Given the description of an element on the screen output the (x, y) to click on. 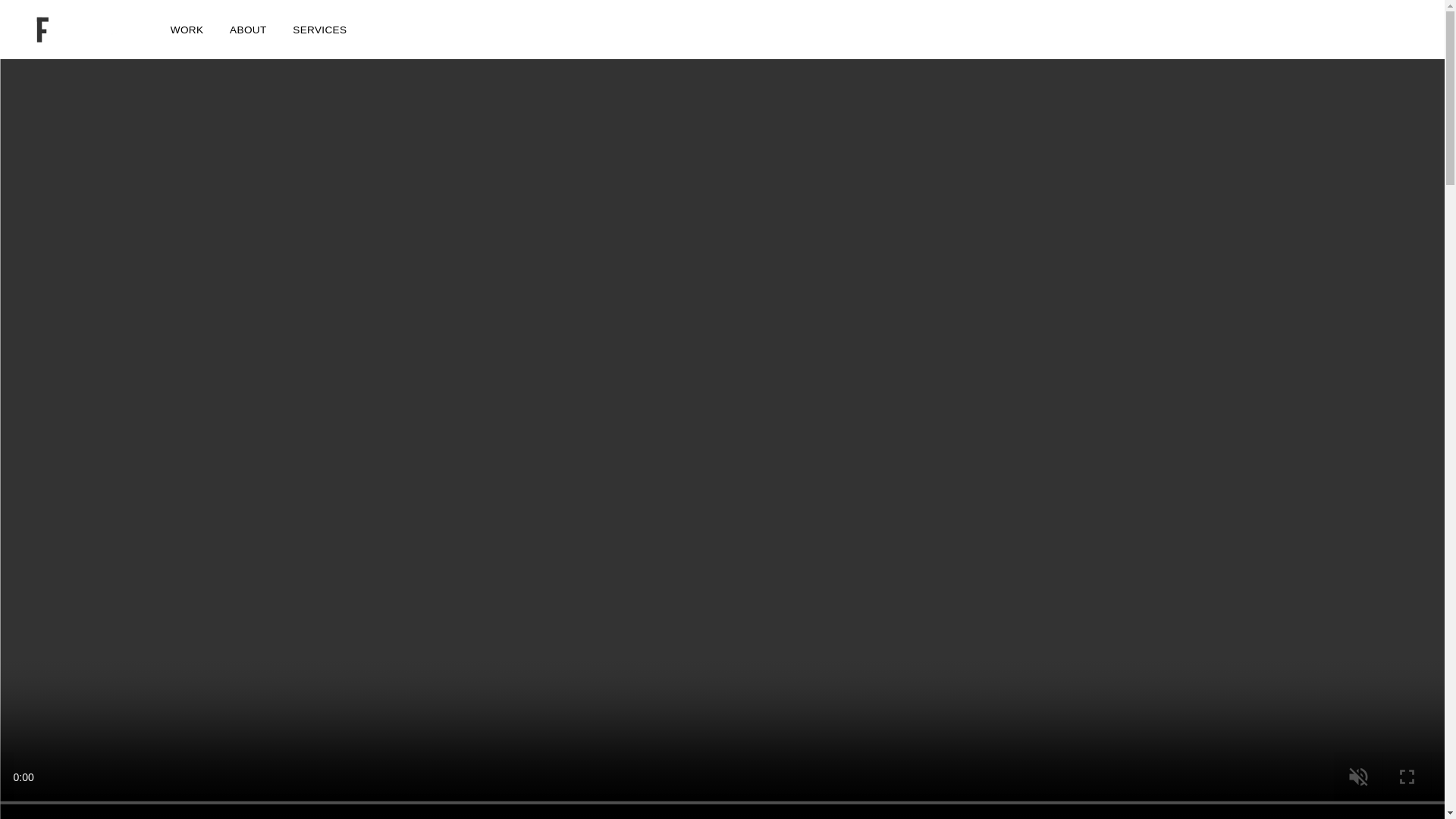
ABOUT (248, 31)
PLUS AGENCY (83, 29)
SERVICES (319, 31)
WORK (186, 31)
